Given the description of an element on the screen output the (x, y) to click on. 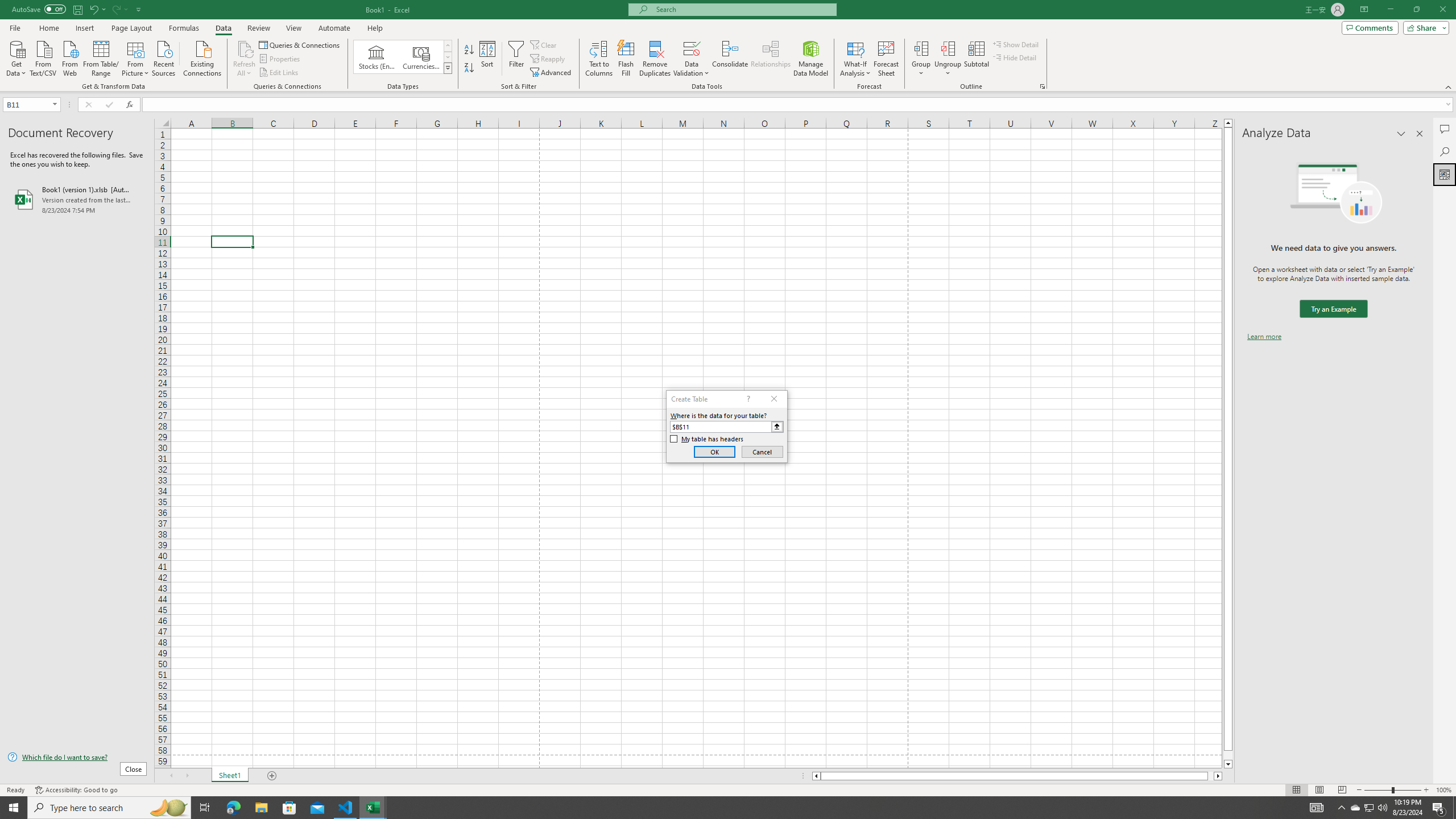
Normal (1296, 790)
From Table/Range (100, 57)
AutoSave (38, 9)
